Given the description of an element on the screen output the (x, y) to click on. 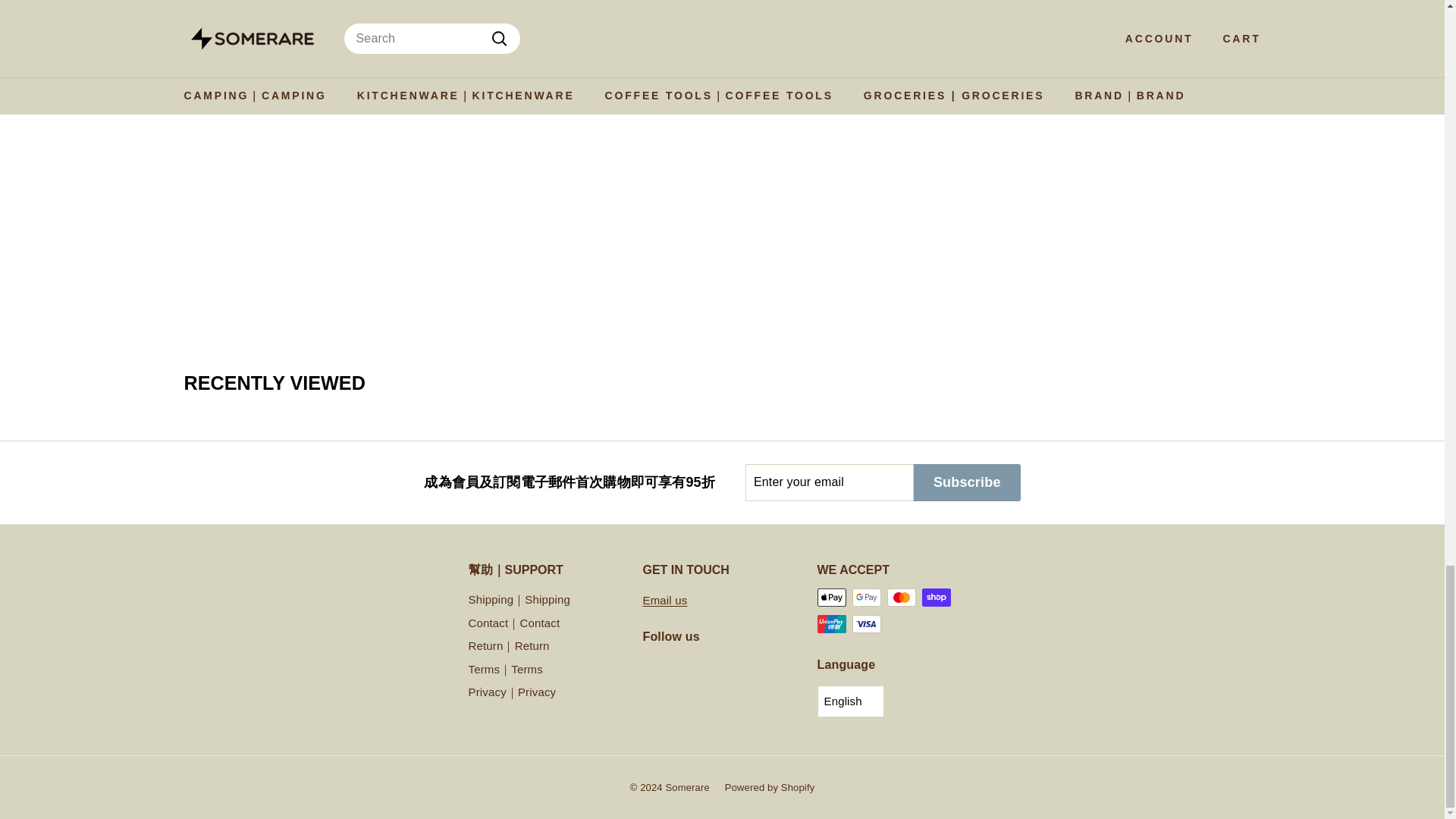
Mastercard (900, 597)
Google Pay (865, 597)
Shop Pay (935, 597)
Visa (865, 624)
Union Pay (830, 624)
Apple Pay (830, 597)
